Given the description of an element on the screen output the (x, y) to click on. 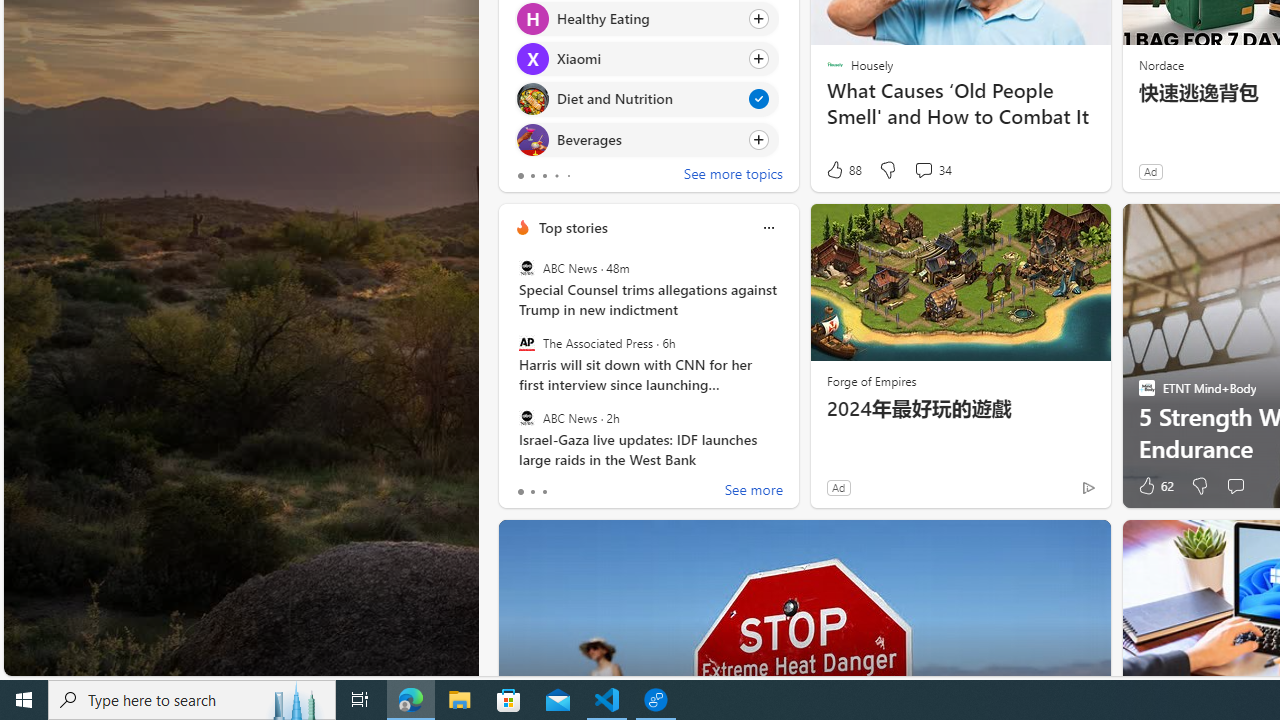
tab-2 (543, 491)
Click to follow topic Xiaomi (646, 59)
View comments 34 Comment (932, 170)
62 Like (1154, 485)
The Associated Press (526, 343)
next (788, 39)
tab-1 (532, 491)
Top stories (572, 227)
Click to follow topic Beverages (646, 138)
